Given the description of an element on the screen output the (x, y) to click on. 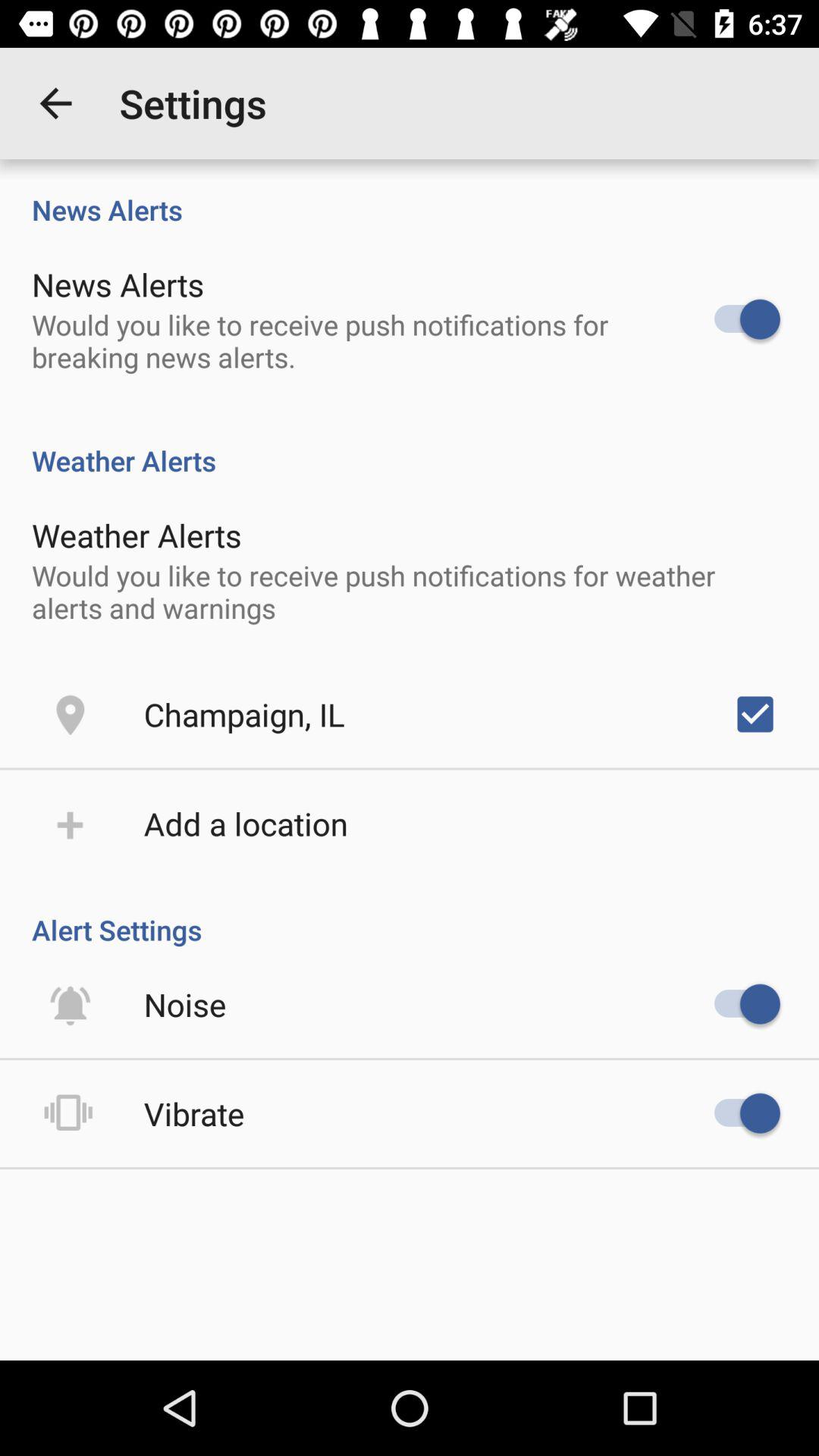
flip to noise item (184, 1004)
